Given the description of an element on the screen output the (x, y) to click on. 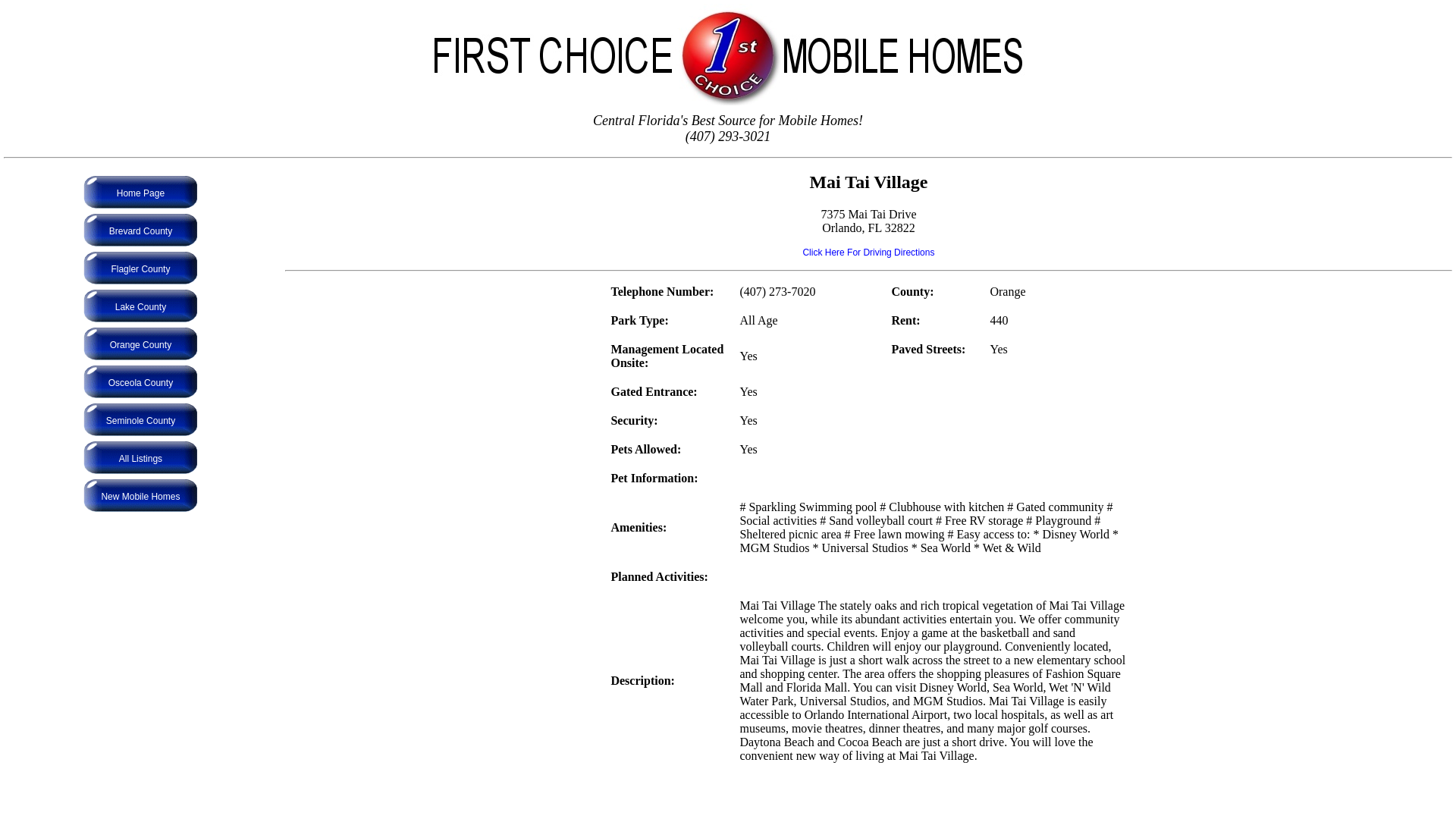
New Mobile Homes Element type: text (139, 496)
Seminole County Element type: text (140, 420)
Click Here For Driving Directions Element type: text (868, 252)
Osceola County Element type: text (140, 382)
Lake County Element type: text (140, 306)
Brevard County Element type: text (140, 230)
Home Page Element type: text (140, 193)
Orange County Element type: text (140, 344)
All Listings Element type: text (140, 458)
Flagler County Element type: text (139, 268)
